Given the description of an element on the screen output the (x, y) to click on. 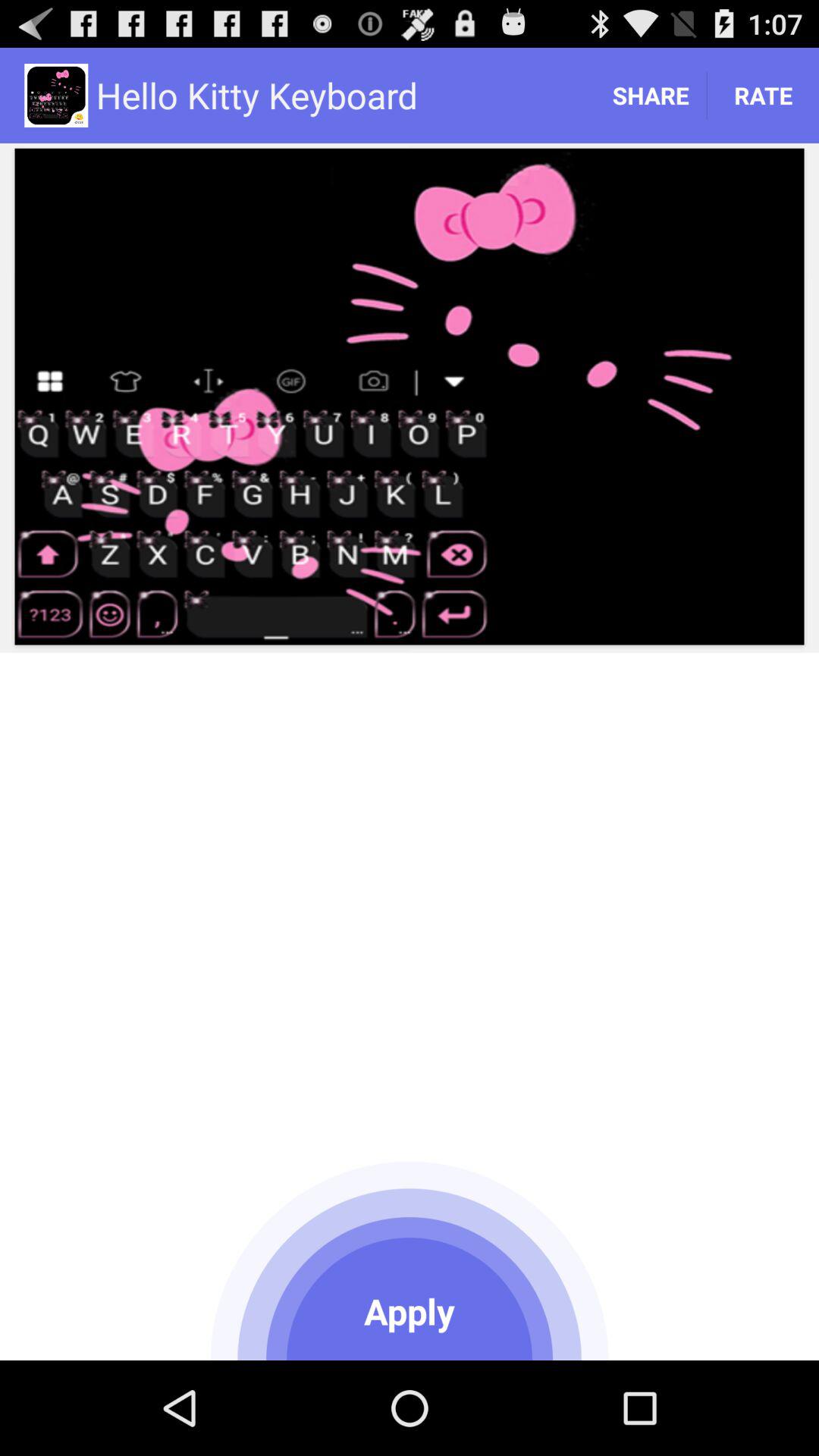
this is what you would click to save your changes that you made (409, 1257)
